Given the description of an element on the screen output the (x, y) to click on. 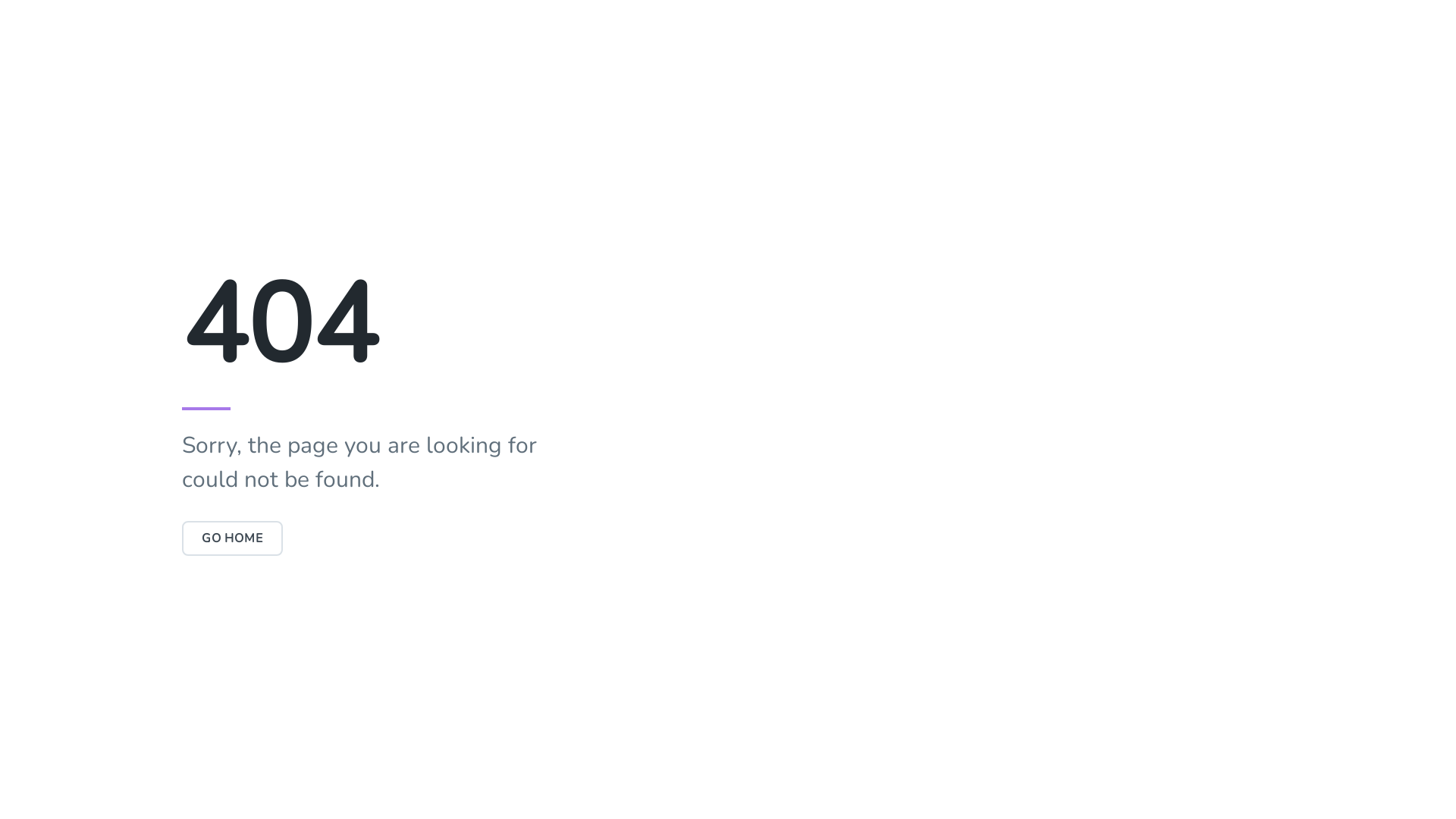
GO HOME Element type: text (232, 537)
GO HOME Element type: text (232, 538)
